Given the description of an element on the screen output the (x, y) to click on. 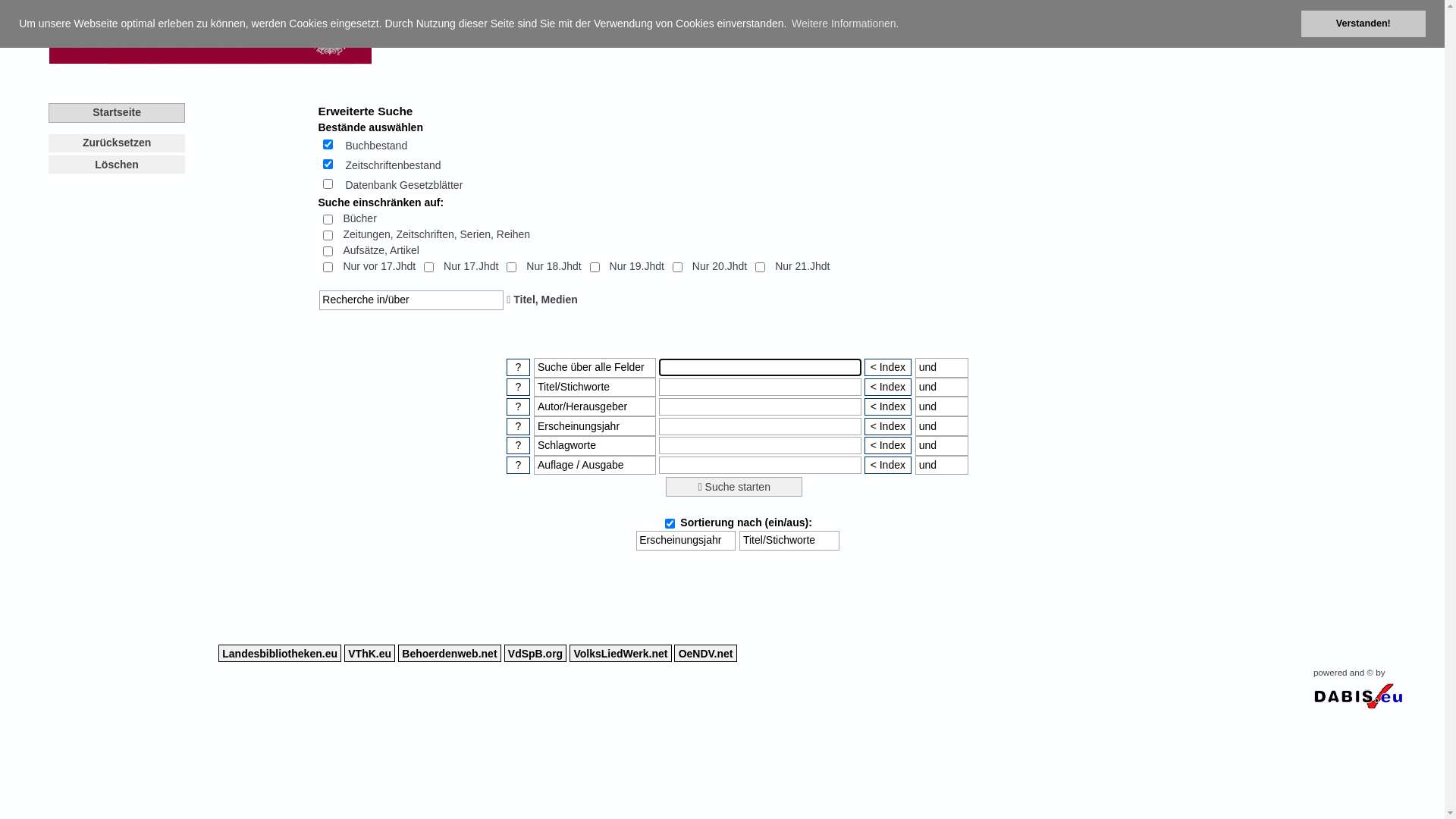
Behoerdenweb.net Element type: text (449, 653)
Hilfe zu diesem Suchaspekt Element type: hover (518, 406)
Geben Sie hier Ihre Suchanfrage ein Element type: hover (759, 367)
Startseite Element type: text (116, 112)
Hilfe zu diesem Suchaspekt Element type: hover (518, 445)
Zentralbibliothek Element type: text (832, 19)
< Index Element type: text (887, 386)
 ?  Element type: text (518, 445)
VolksLiedWerk.net Element type: text (620, 653)
 ?  Element type: text (518, 367)
Geben Sie hier Ihre Suchanfrage ein Element type: hover (759, 406)
Geben Sie hier Ihre Suchanfrage ein Element type: hover (759, 386)
Landesbibliotheken.eu Element type: text (279, 653)
Zentralbibliothek Oberster Gerichtshof Element type: hover (209, 60)
 ?  Element type: text (518, 426)
 ?  Element type: text (518, 464)
Geben Sie hier Ihre Suchanfrage ein Element type: hover (759, 426)
Geben Sie hier Ihre Suchanfrage ein Element type: hover (759, 464)
< Index Element type: text (887, 426)
VThK.eu Element type: text (369, 653)
Weitere Informationen. Element type: text (844, 23)
 ?  Element type: text (518, 406)
< Index Element type: text (887, 445)
< Index Element type: text (887, 464)
OeNDV.net Element type: text (705, 653)
 ?  Element type: text (518, 386)
Geben Sie hier Ihre Suchanfrage ein Element type: hover (759, 445)
Hilfe zu diesem Suchaspekt Element type: hover (518, 367)
Hilfe zu diesem Suchaspekt Element type: hover (518, 386)
ogh.bibliothek[at]justiz.gv.at Element type: text (1009, 12)
Hilfe zu diesem Suchaspekt Element type: hover (518, 426)
< Index Element type: text (887, 406)
Hilfe zu diesem Suchaspekt Element type: hover (518, 464)
Zentralbibliothek Oberster Gerichtshof Element type: hover (209, 33)
Verstanden! Element type: text (1363, 23)
< Index Element type: text (887, 367)
VdSpB.org Element type: text (535, 653)
